Given the description of an element on the screen output the (x, y) to click on. 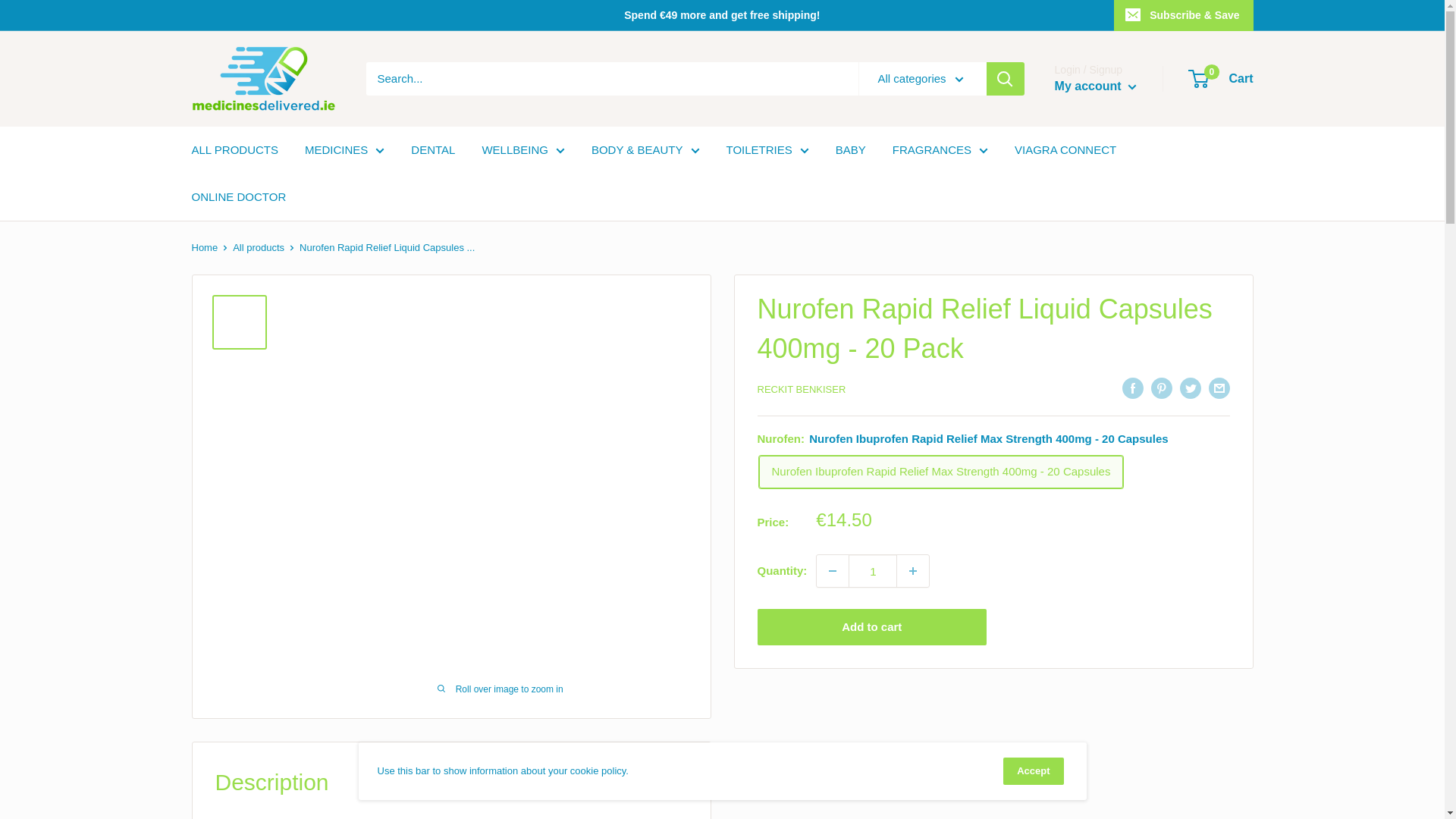
Decrease quantity by 1 (832, 571)
1 (872, 571)
Increase quantity by 1 (912, 571)
